Given the description of an element on the screen output the (x, y) to click on. 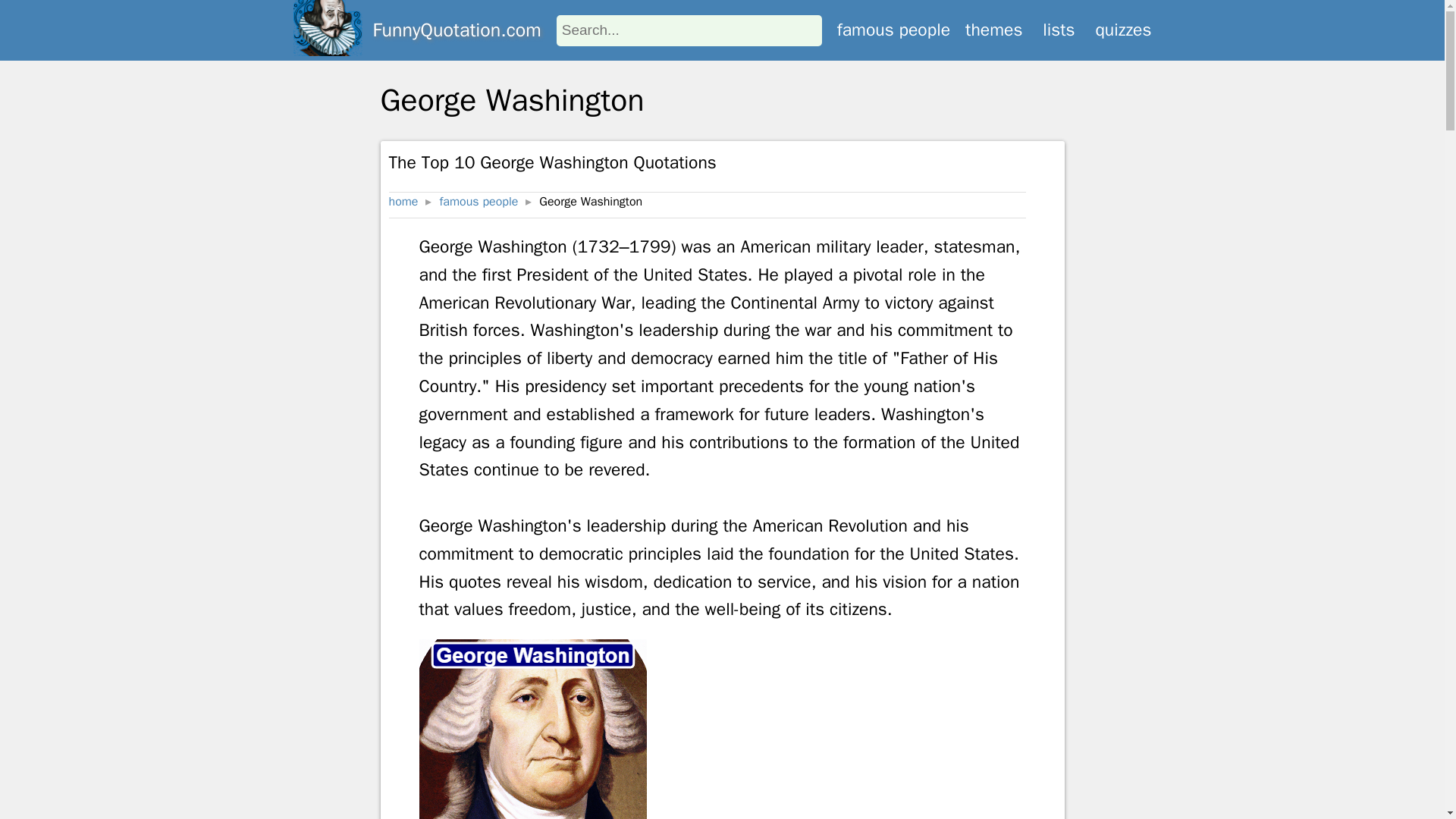
home (402, 202)
quizzes (1122, 29)
themes (993, 29)
famous people (478, 202)
famous people (893, 29)
FunnyQuotation.com (456, 29)
lists (1058, 29)
